Given the description of an element on the screen output the (x, y) to click on. 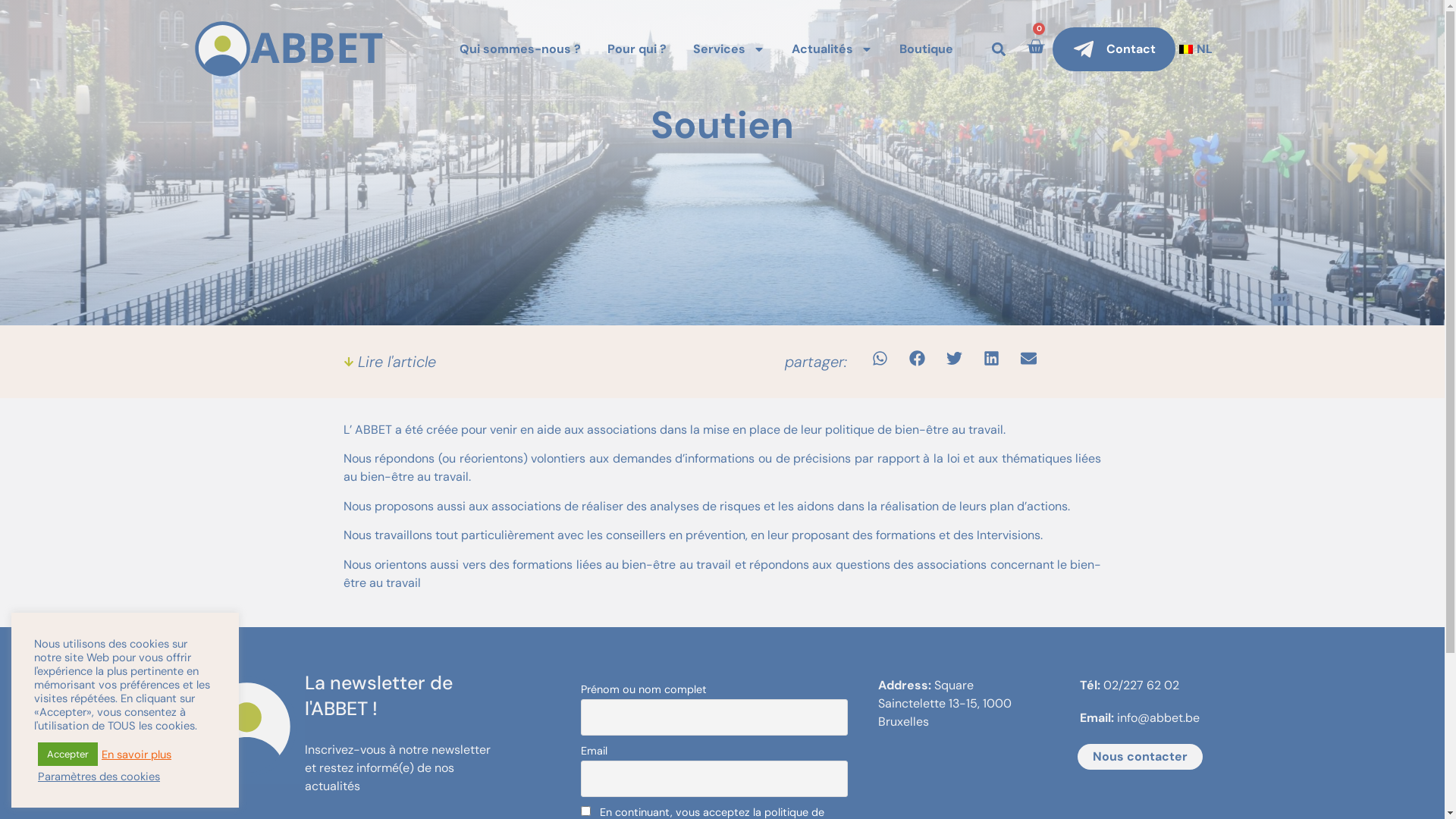
0 Element type: text (1035, 49)
NL Element type: text (1193, 49)
Lire l'article Element type: text (388, 361)
Boutique Element type: text (926, 49)
Contact Element type: text (1113, 49)
Qui sommes-nous ? Element type: text (519, 49)
Pour qui ? Element type: text (636, 49)
Accepter Element type: text (67, 753)
Nous contacter Element type: text (1140, 756)
Dutch Element type: hover (1185, 48)
Services Element type: text (729, 49)
En savoir plus Element type: text (136, 754)
